Given the description of an element on the screen output the (x, y) to click on. 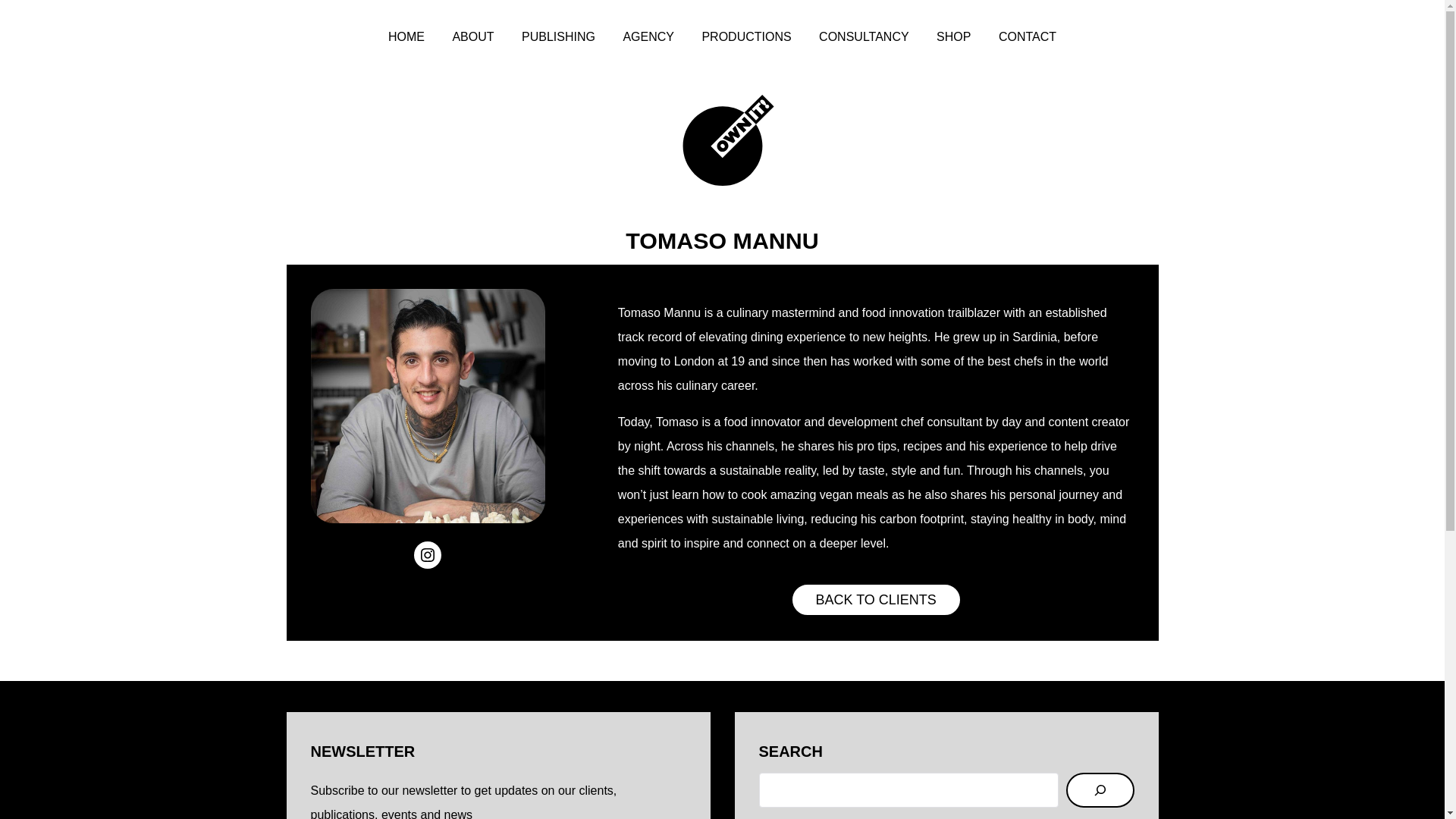
Instagram (427, 554)
HOME (406, 38)
PRODUCTIONS (745, 38)
AGENCY (648, 38)
PUBLISHING (558, 38)
CONTACT (1027, 38)
CONSULTANCY (863, 38)
BACK TO CLIENTS (875, 599)
ABOUT (472, 38)
SHOP (953, 38)
